Given the description of an element on the screen output the (x, y) to click on. 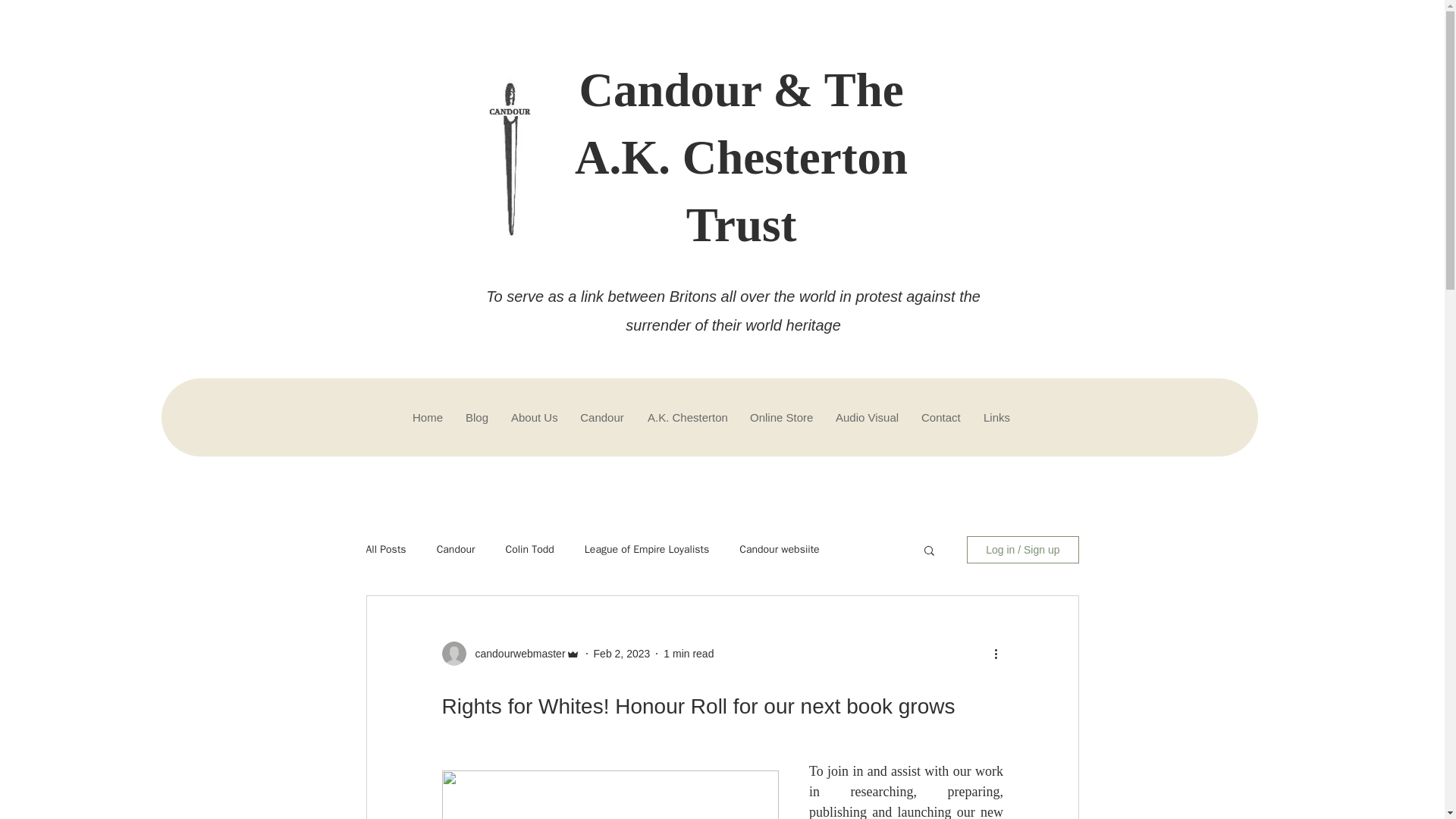
Feb 2, 2023 (622, 653)
Colin Todd (529, 549)
1 min read (688, 653)
candourwebmaster (514, 653)
All Posts (385, 549)
Candour websiite (778, 549)
Candour (456, 549)
Audio Visual (866, 417)
League of Empire Loyalists (647, 549)
Online Store (781, 417)
A.K. Chesterton (686, 417)
